Given the description of an element on the screen output the (x, y) to click on. 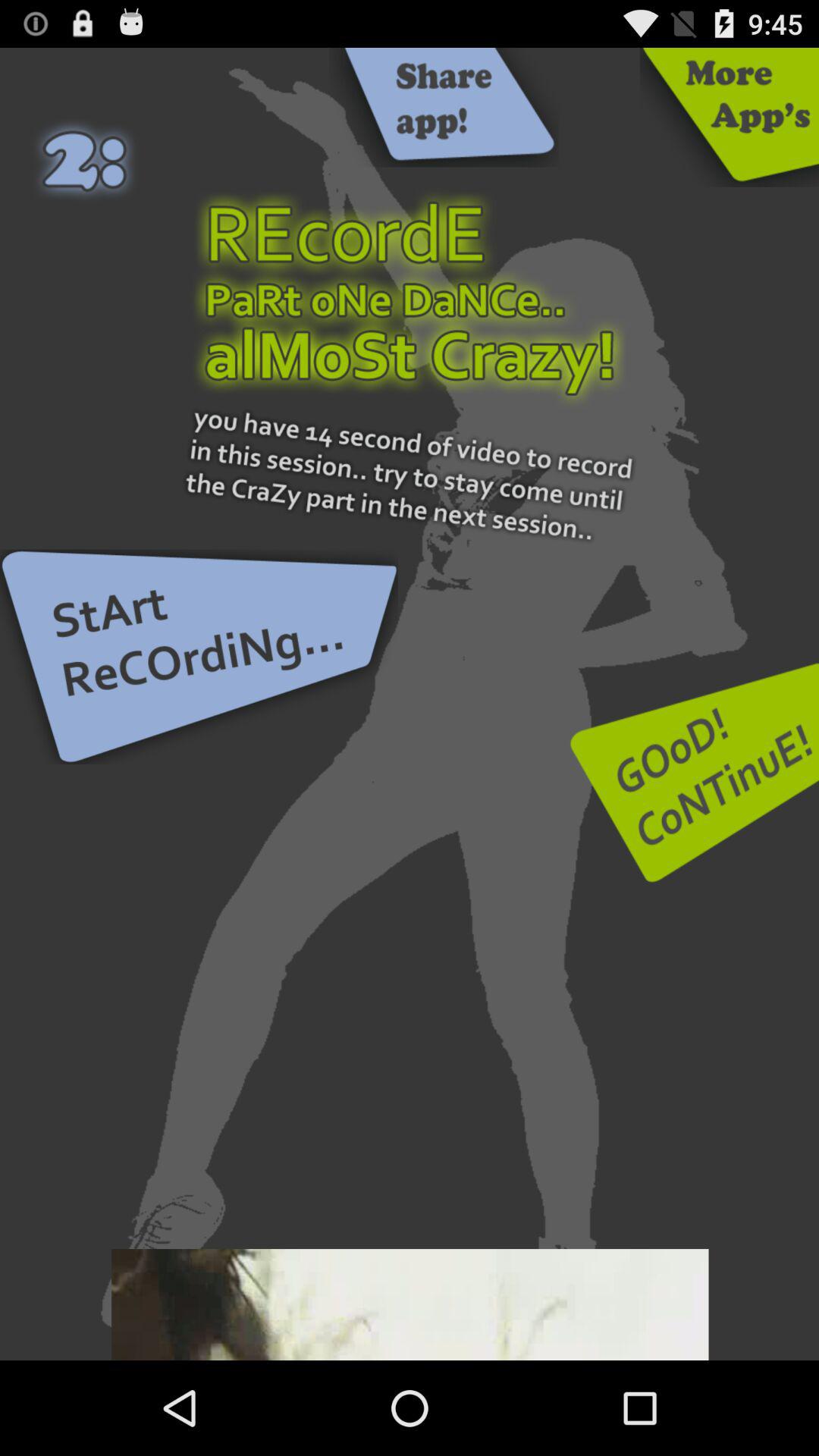
this add watch (409, 1304)
